Given the description of an element on the screen output the (x, y) to click on. 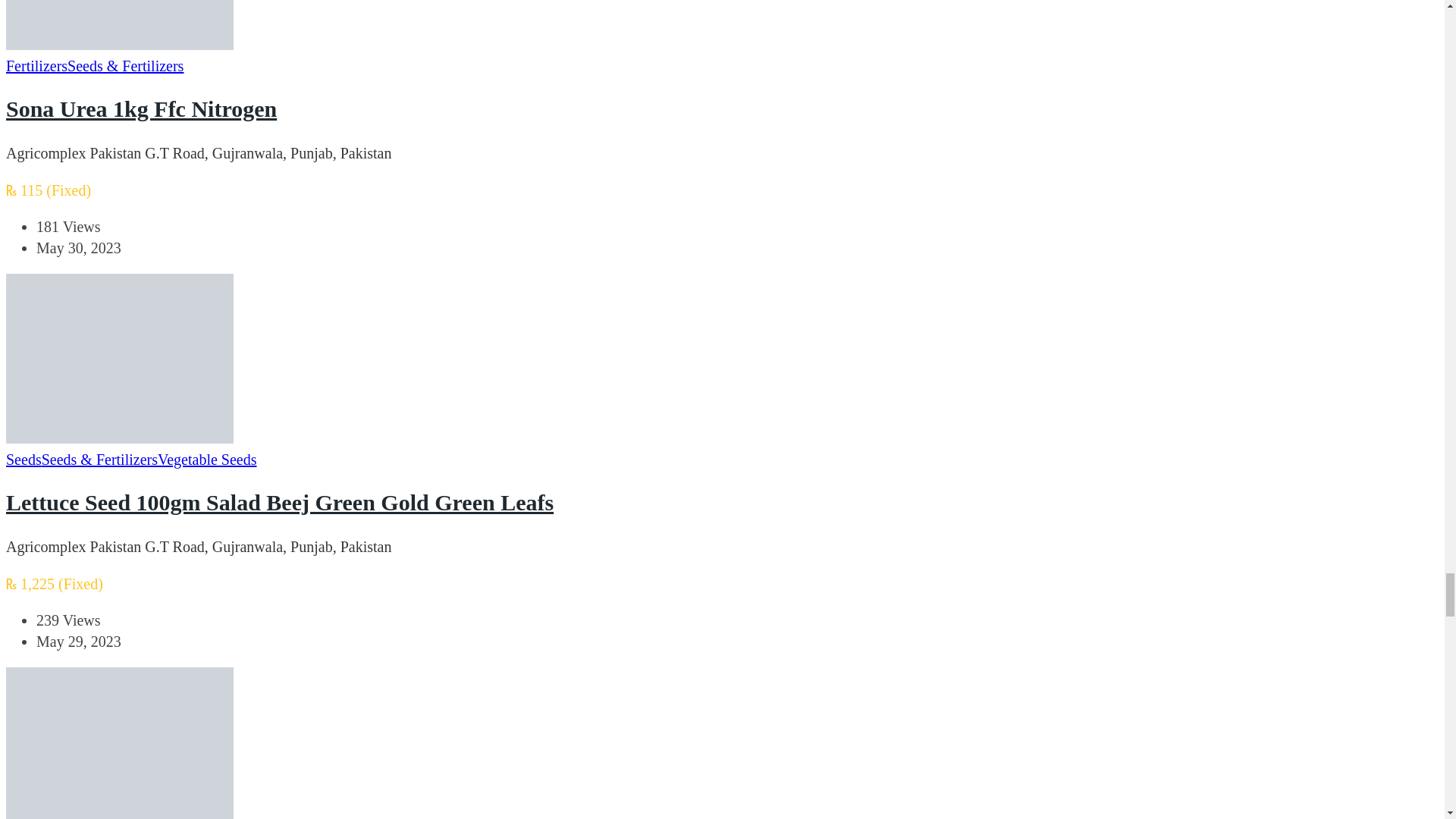
Lettuce Seed 100gm Salad Beej Green Gold Green Leafs (279, 502)
Sona Urea 1kg Ffc Nitrogen (140, 108)
